Given the description of an element on the screen output the (x, y) to click on. 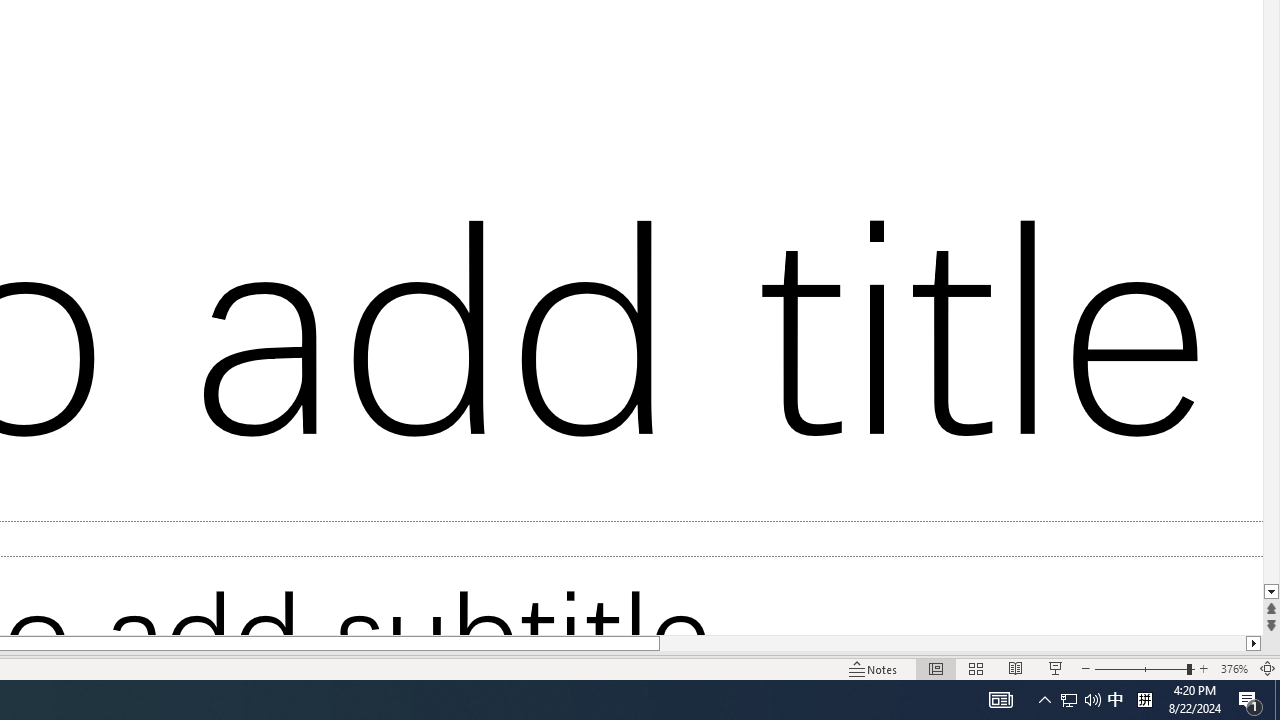
Zoom 376% (1234, 668)
